Given the description of an element on the screen output the (x, y) to click on. 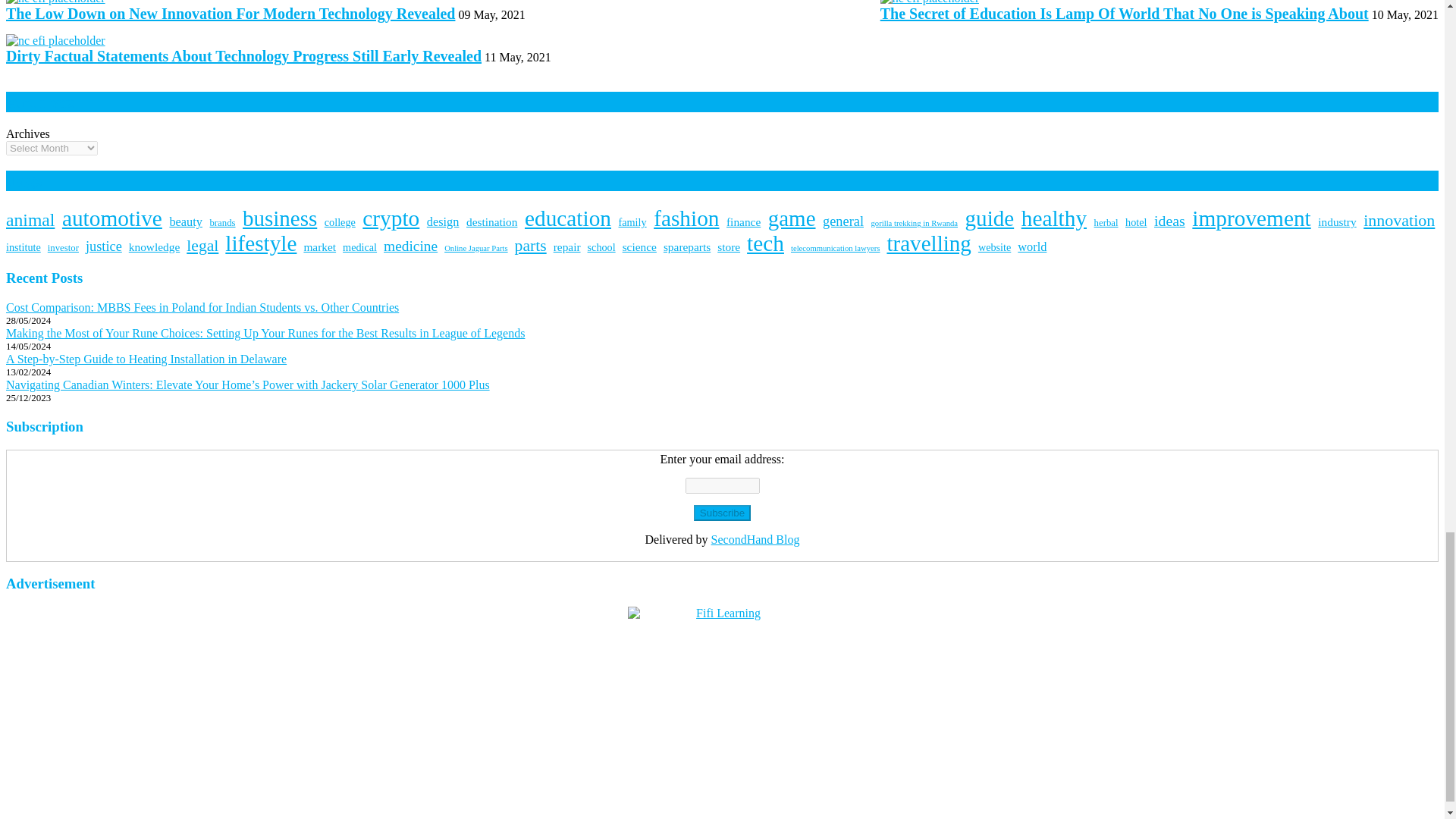
Fifi Learning (721, 701)
Subscribe (722, 512)
